Given the description of an element on the screen output the (x, y) to click on. 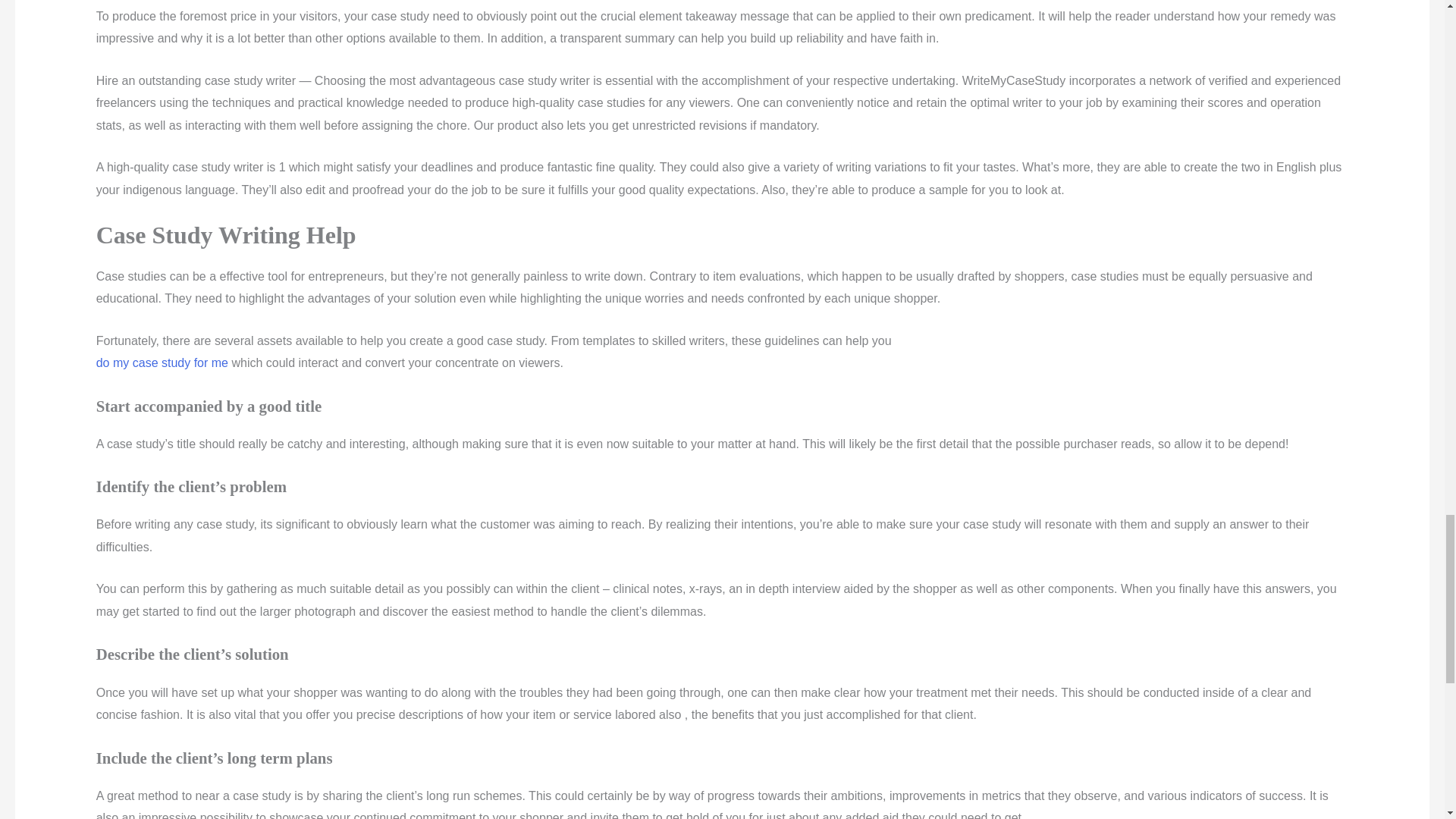
do my case study for me (162, 362)
